Given the description of an element on the screen output the (x, y) to click on. 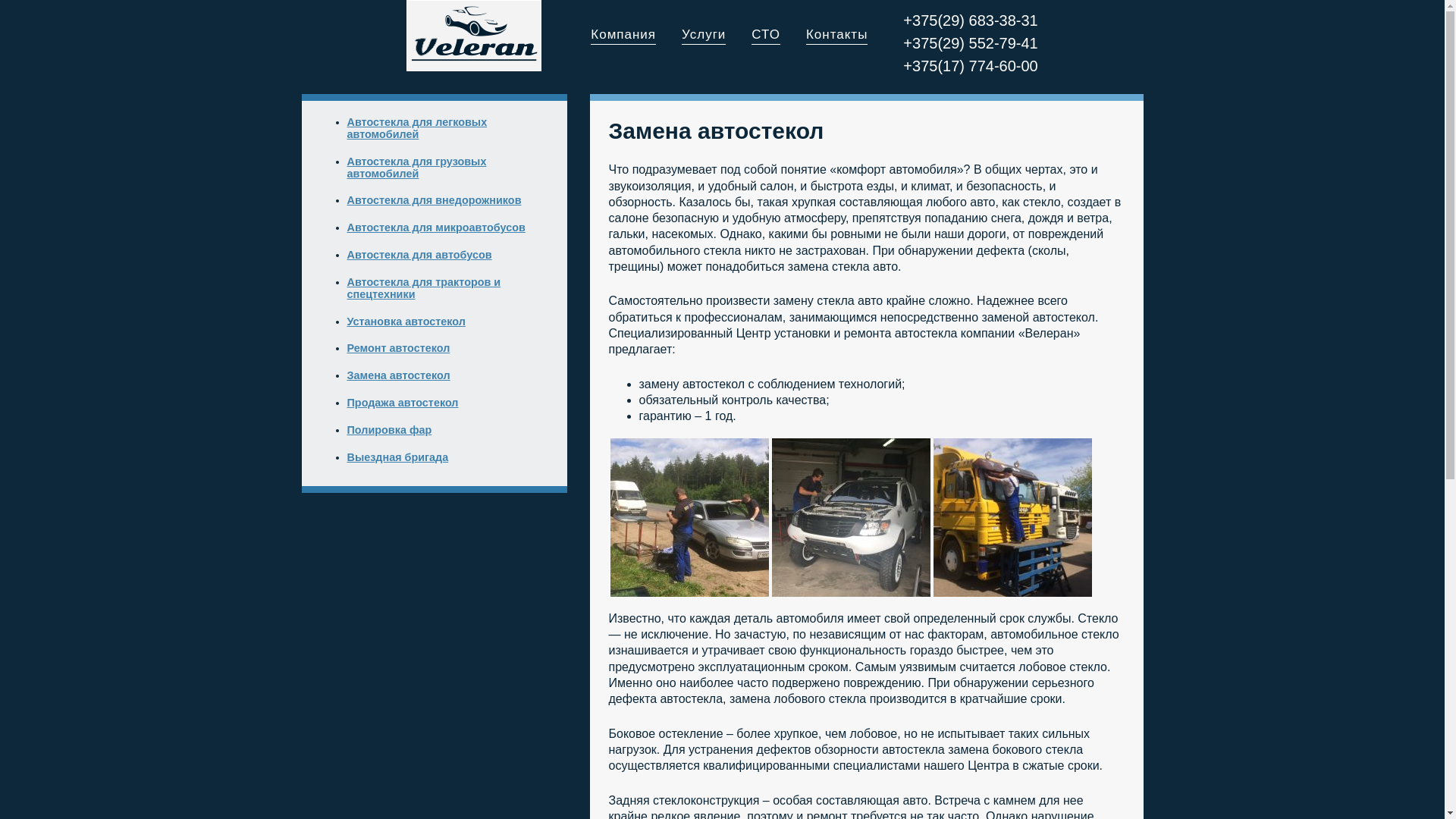
+375(29) 552-79-41 Element type: text (970, 42)
+375(17) 774-60-00 Element type: text (970, 65)
+375(29) 683-38-31 Element type: text (970, 20)
